Given the description of an element on the screen output the (x, y) to click on. 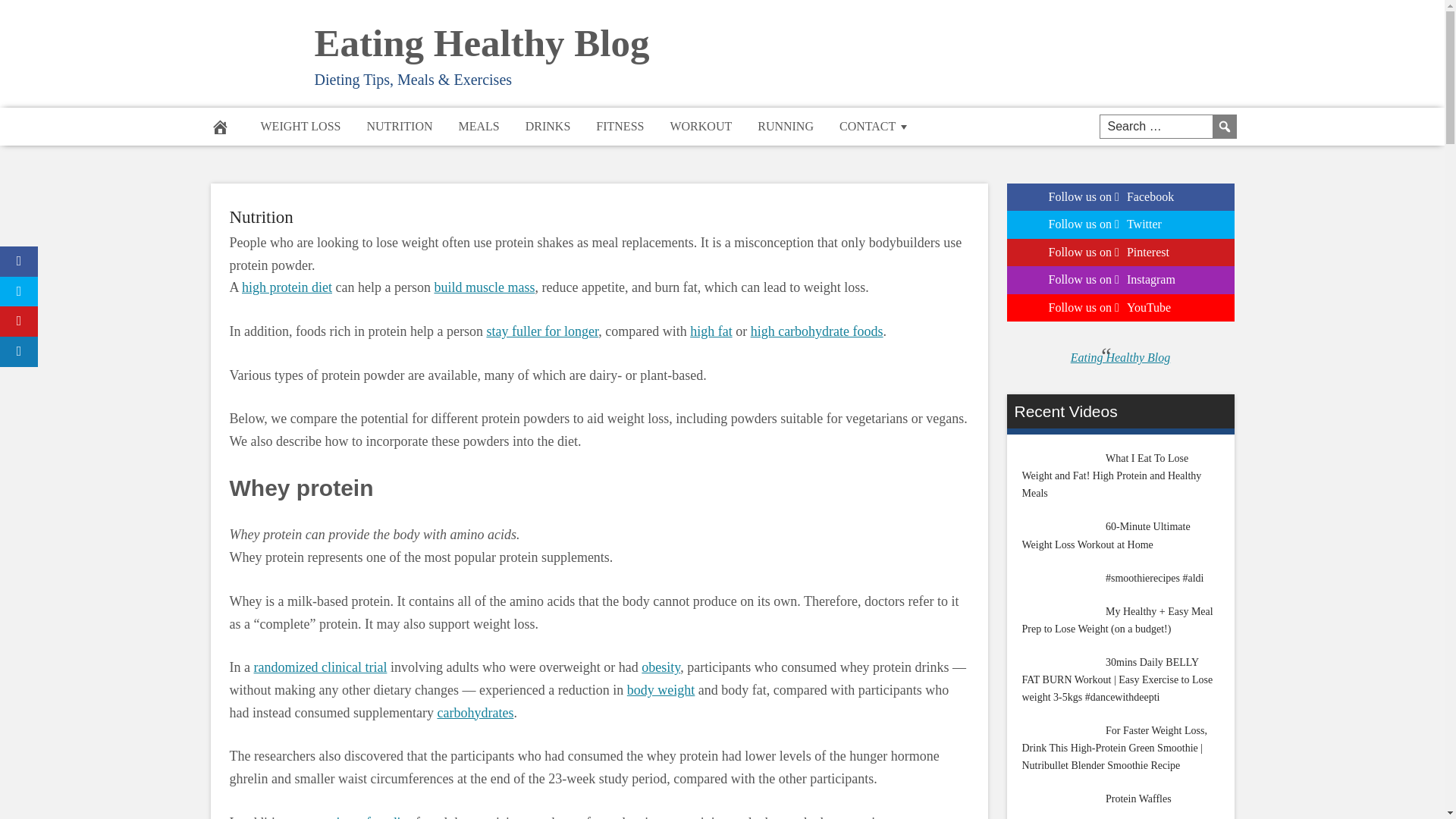
What you need to know about carbs (474, 712)
Nutrition (260, 217)
RUNNING (785, 126)
WEIGHT LOSS (300, 126)
FITNESS (619, 126)
DRINKS (547, 126)
WORKOUT (700, 126)
How Much Should I Weigh? (661, 689)
MEALS (478, 126)
CONTACT (875, 126)
Nutrition (260, 217)
How Much Should I Weigh? (660, 667)
NUTRITION (399, 126)
Eating Healthy Blog (481, 43)
